Given the description of an element on the screen output the (x, y) to click on. 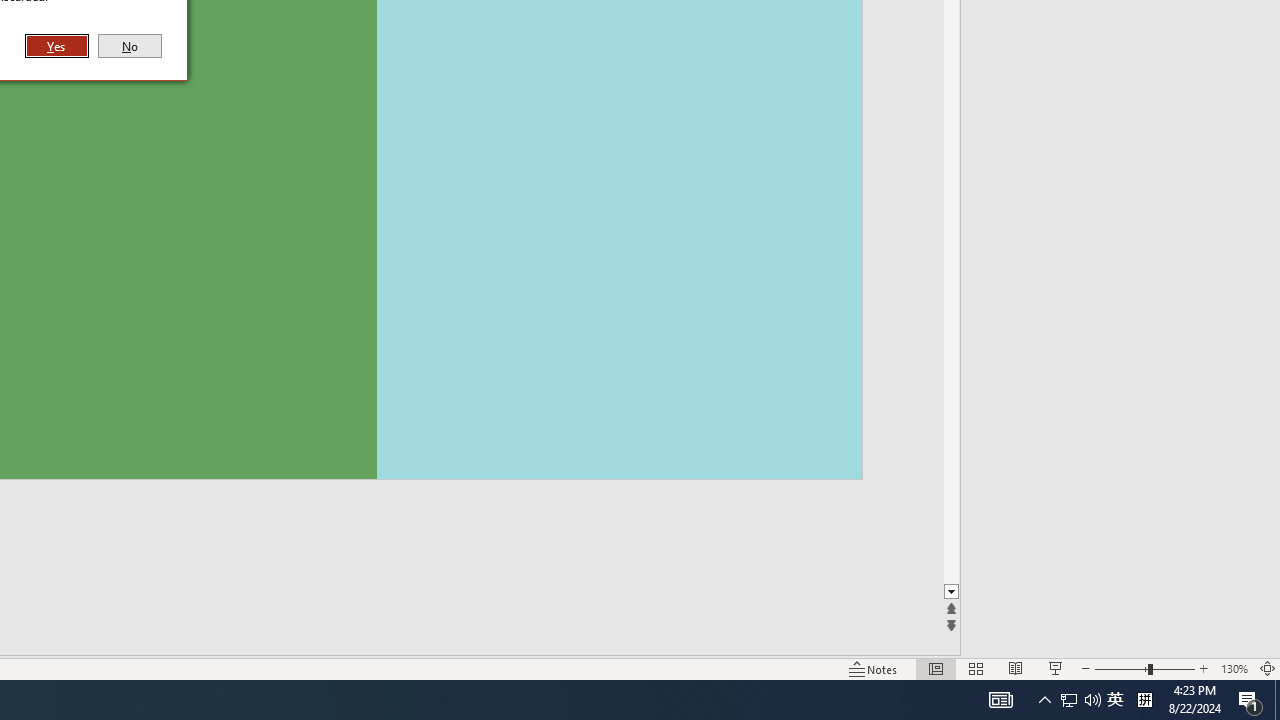
No (130, 45)
